Given the description of an element on the screen output the (x, y) to click on. 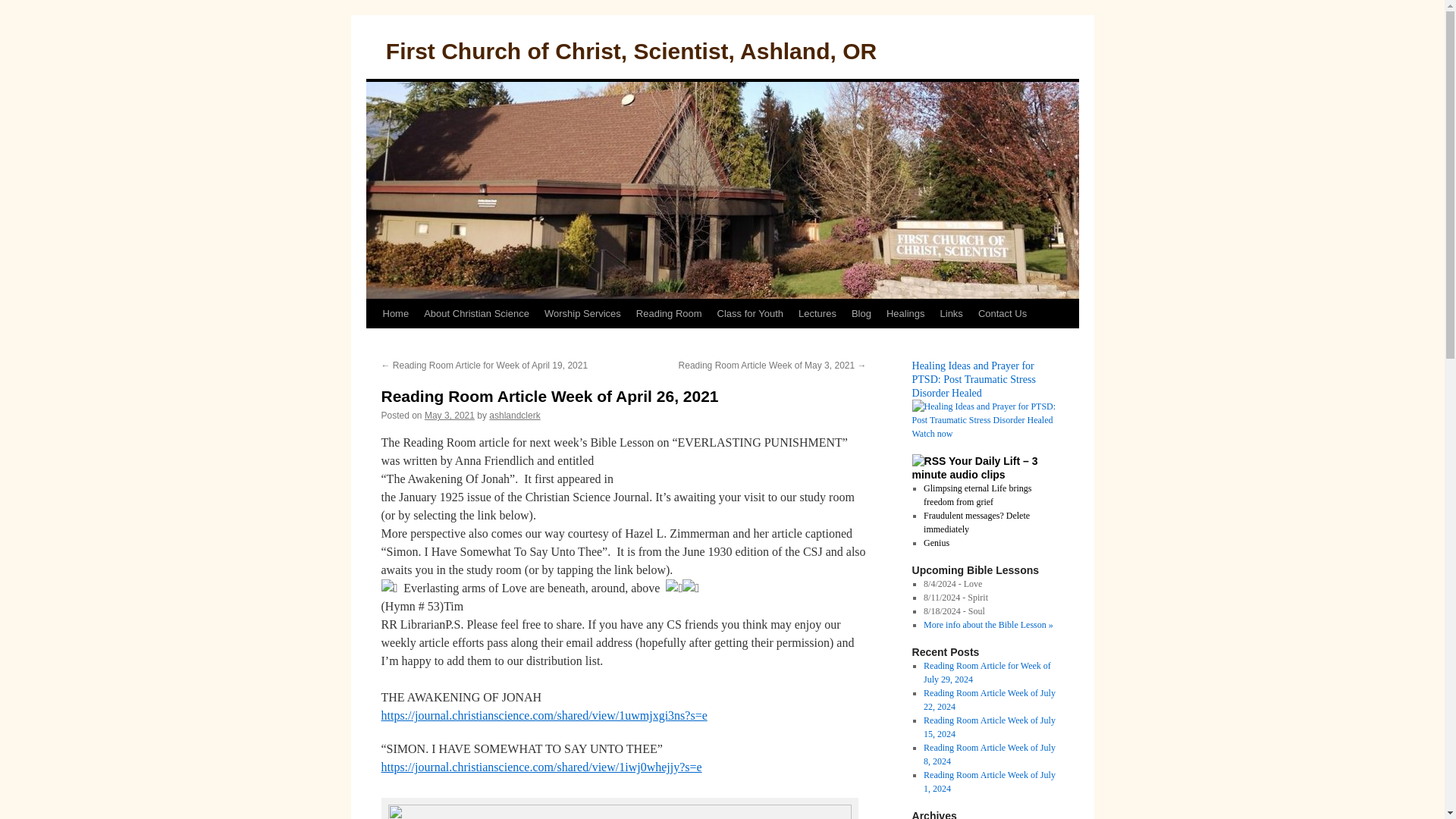
ashlandclerk (514, 415)
Links (952, 313)
Reading Room Article for Week of July 29, 2024 (987, 672)
Watch now (931, 433)
Lectures (817, 313)
About Christian Science (476, 313)
Fraudulent messages? Delete immediately (976, 522)
Home (395, 313)
Reading Room Article Week of July 15, 2024 (989, 726)
Contact Us (1002, 313)
View all posts by ashlandclerk (514, 415)
Healings (906, 313)
Reading Room Article Week of July 8, 2024 (989, 754)
Class for Youth (750, 313)
Reading Room (669, 313)
